Given the description of an element on the screen output the (x, y) to click on. 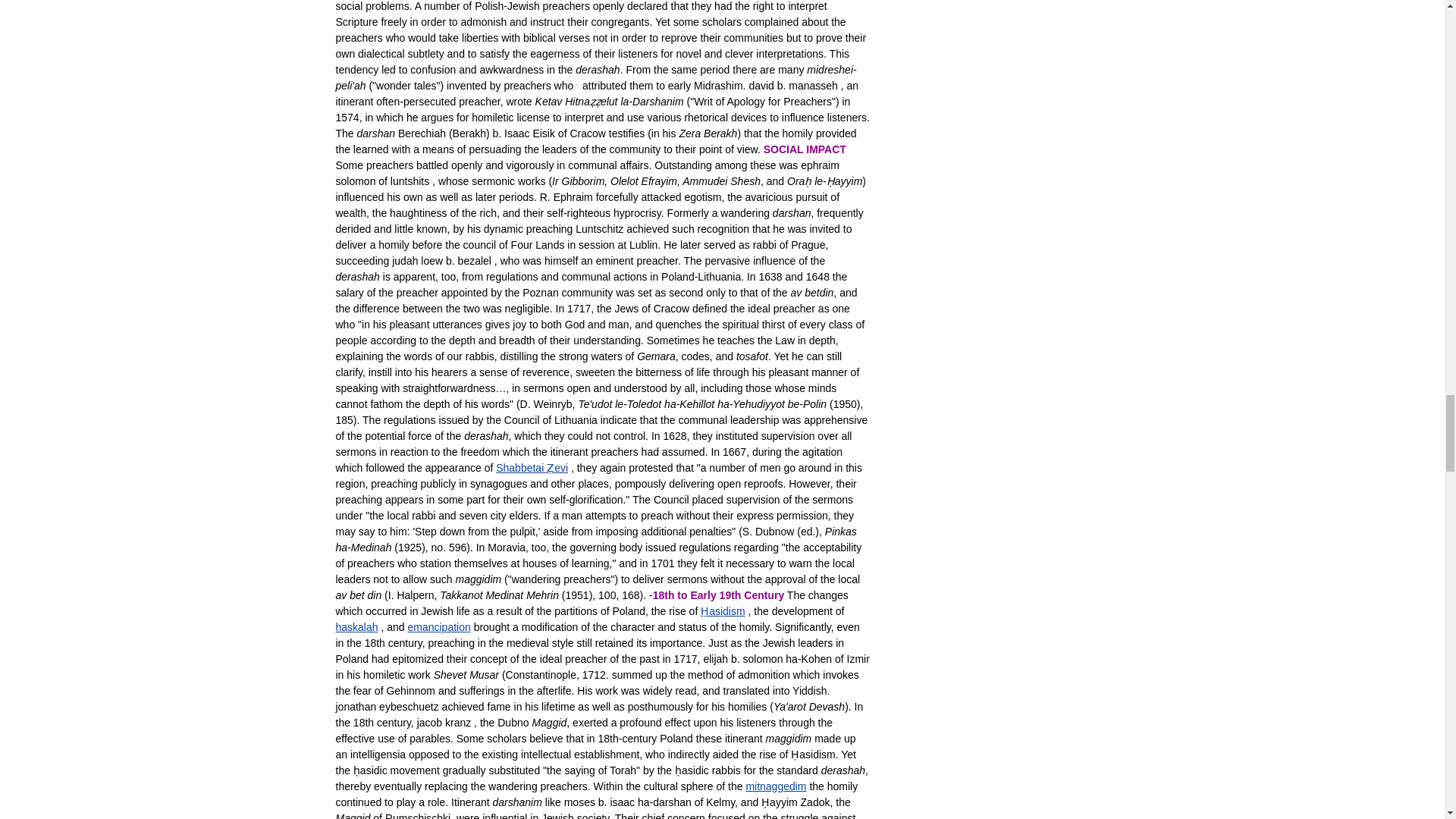
haskalah (355, 626)
emancipation (438, 626)
mitnaggedim (775, 786)
